Given the description of an element on the screen output the (x, y) to click on. 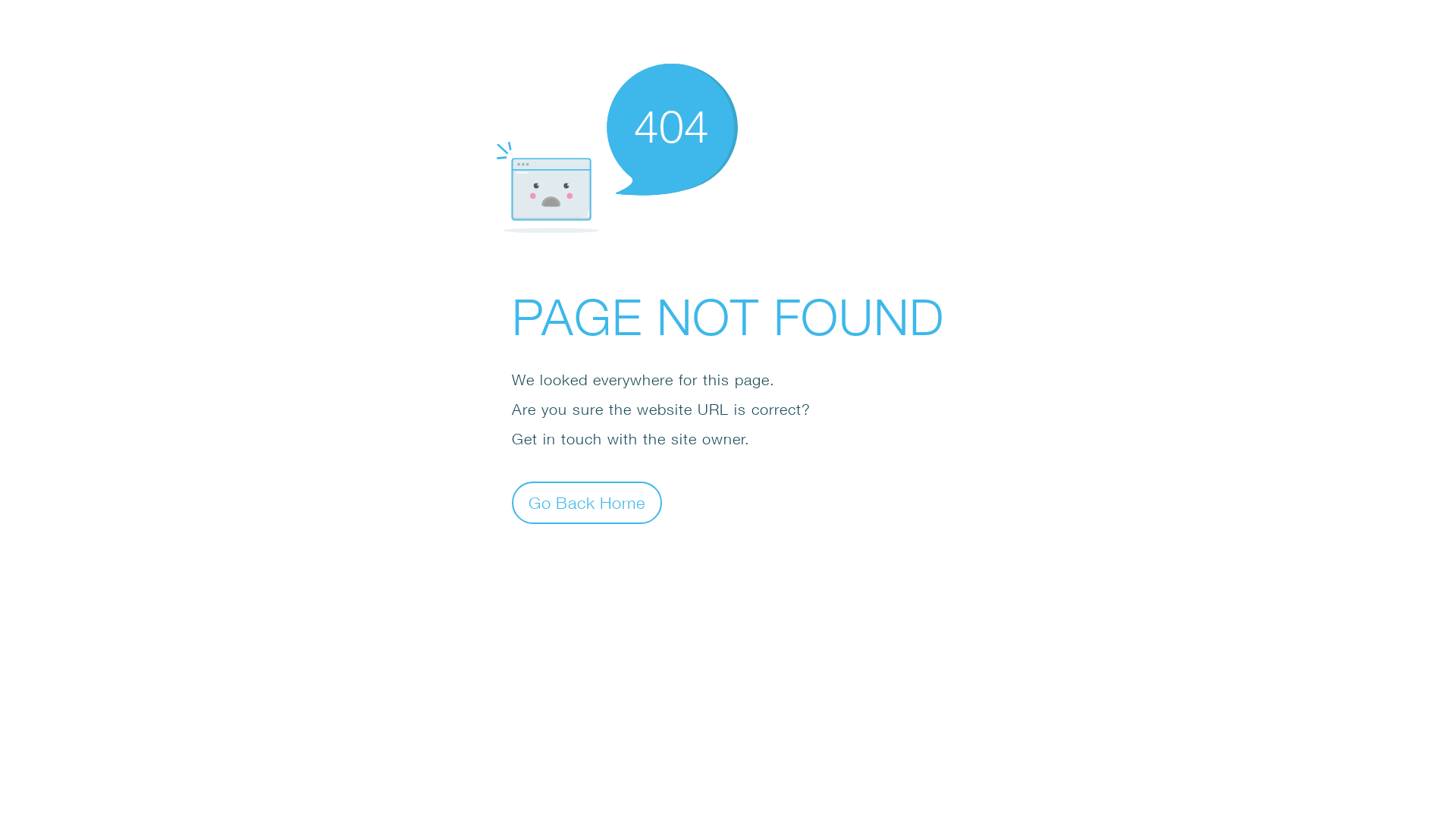
Go Back Home Element type: text (586, 502)
